Given the description of an element on the screen output the (x, y) to click on. 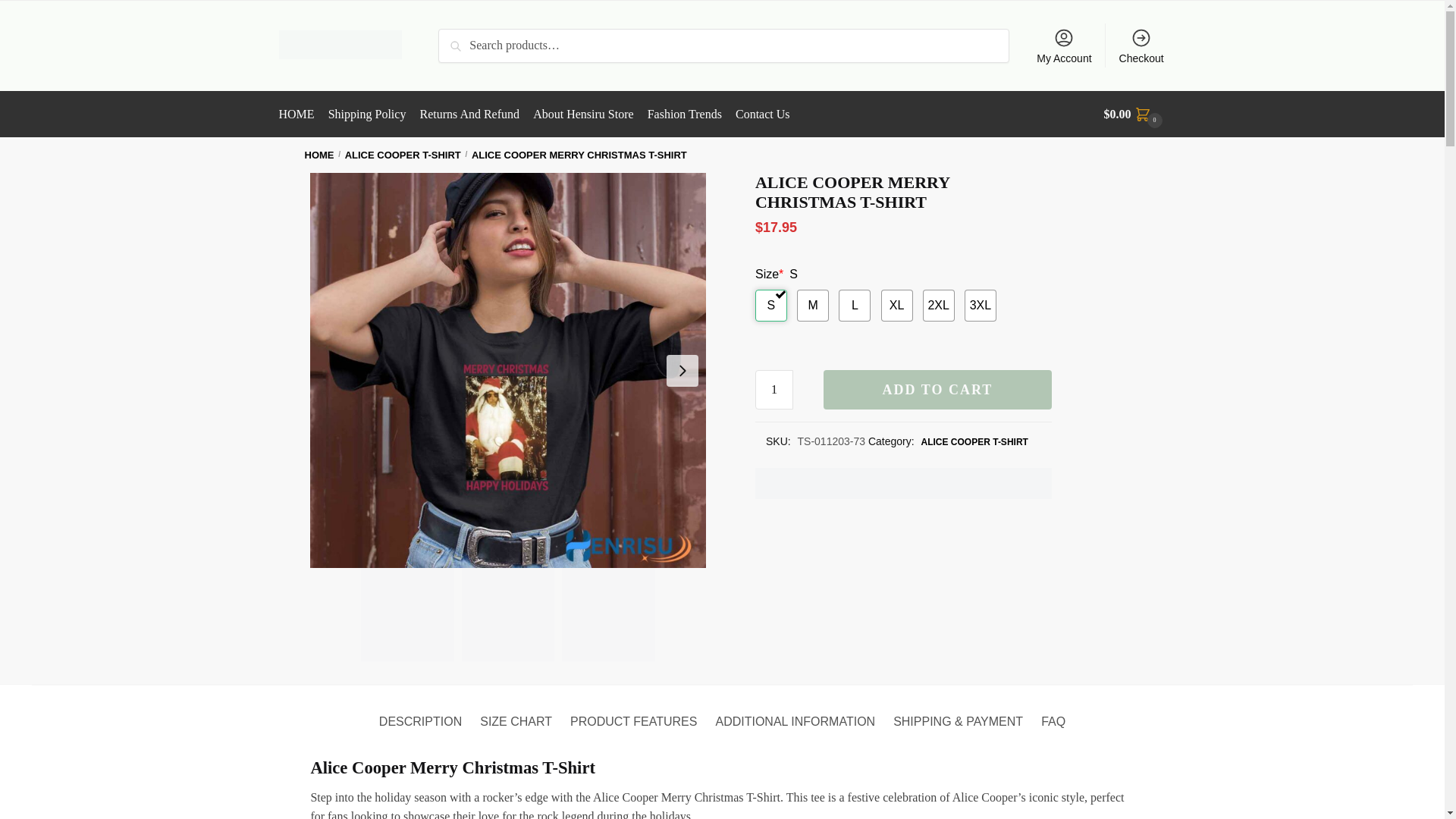
My Account (1063, 45)
About Hensiru Store (582, 114)
Alice Cooper Merry Christmas 8 T Shirt (507, 614)
Alice Cooper Merry Christmas 1 T Shirt (407, 614)
ALICE COOPER T-SHIRT (403, 154)
1 (774, 389)
Contact Us (762, 114)
ALICE COOPER T-SHIRT (974, 441)
Returns And Refund (469, 114)
Shipping Policy (366, 114)
HOME (319, 154)
XL (896, 305)
FAQ (1053, 709)
Alice Cooper Merry Christmas 9 T Shirt (608, 614)
